Given the description of an element on the screen output the (x, y) to click on. 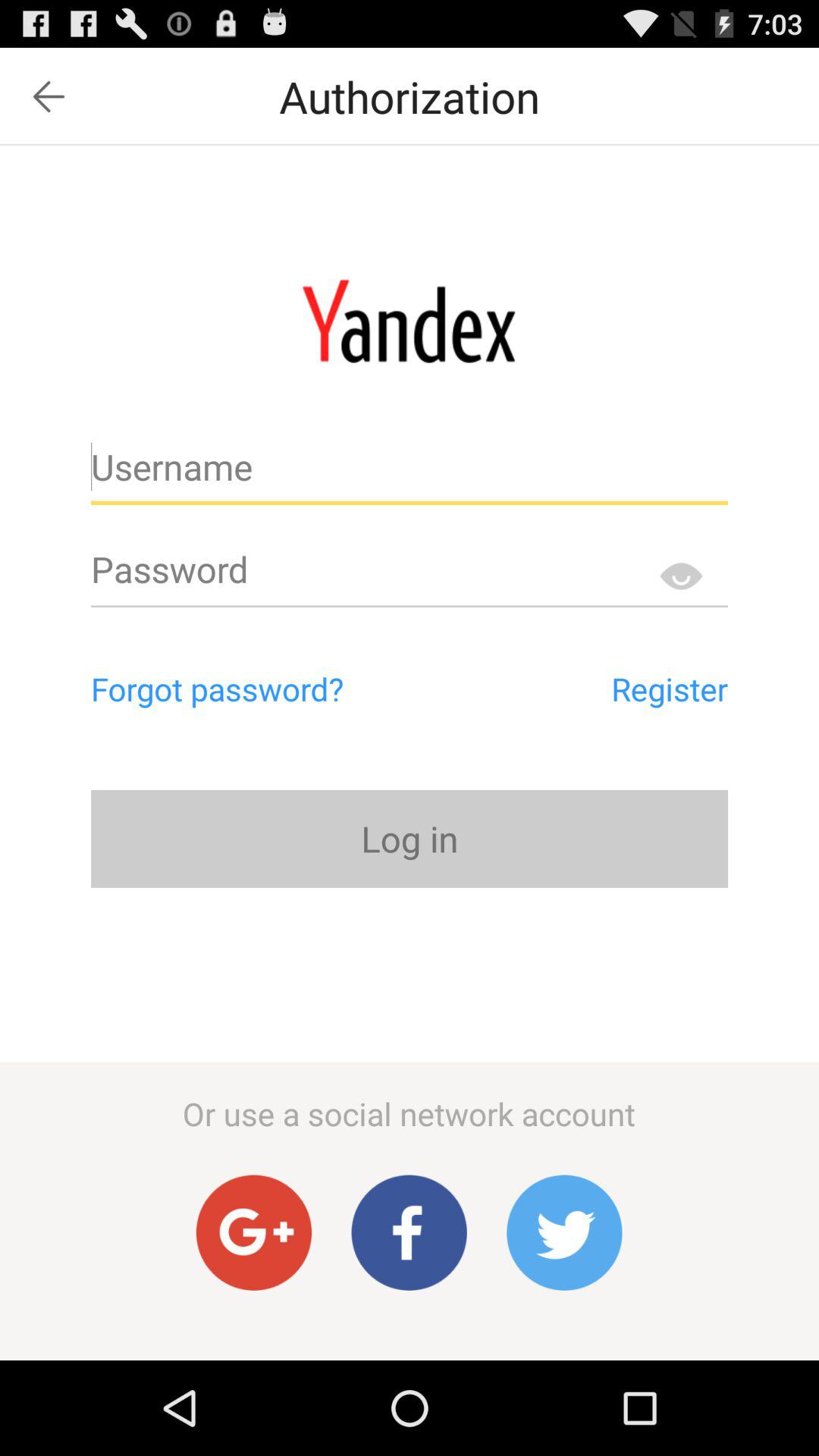
turn on icon at the top left corner (48, 96)
